Given the description of an element on the screen output the (x, y) to click on. 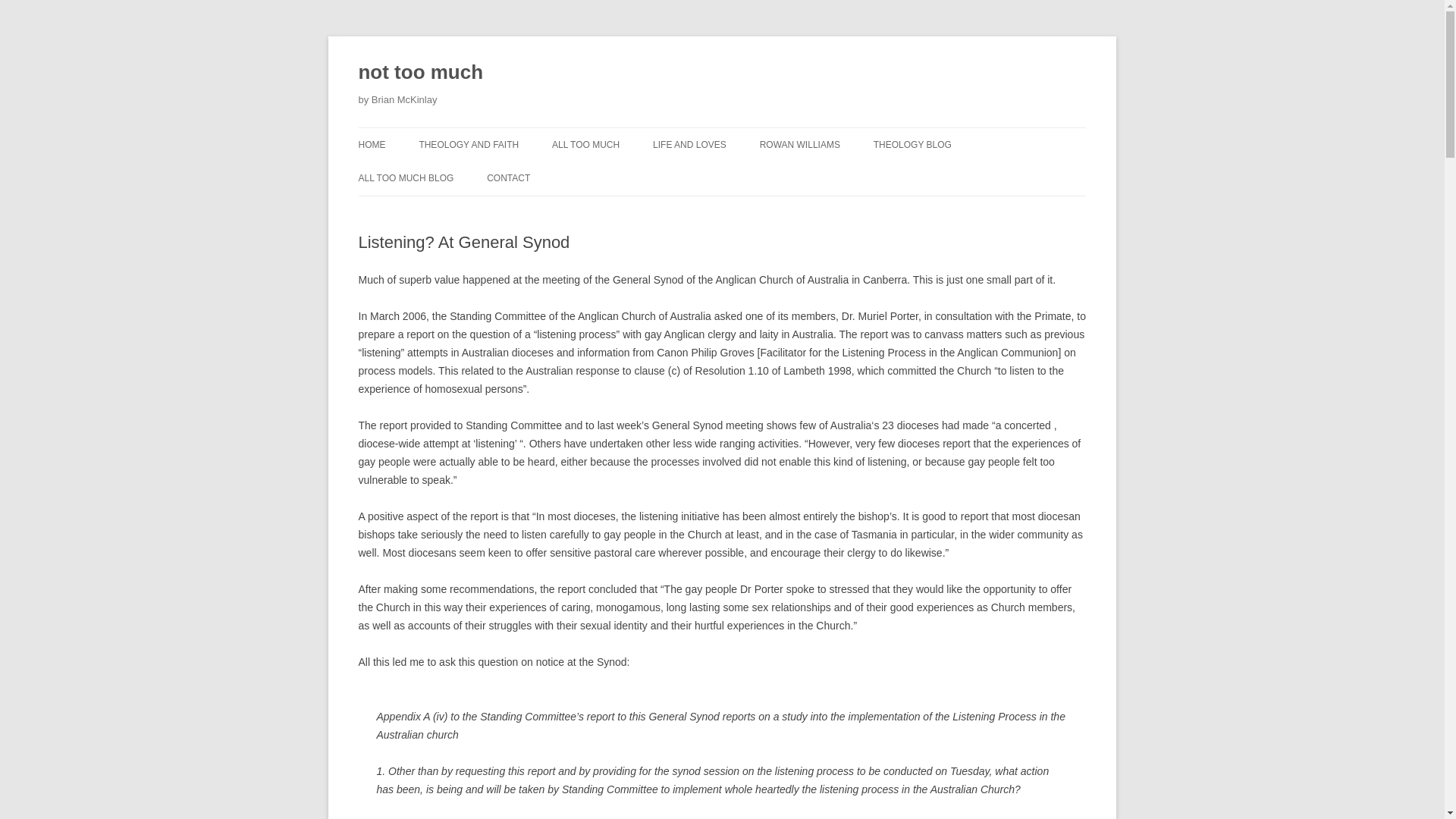
CONTACT (507, 177)
ALL TOO MUCH (585, 144)
ARTS (627, 176)
THEOLOGY AND FAITH (468, 144)
not too much (420, 72)
THEOLOGY BLOG (912, 144)
LIFE AND LOVES (689, 144)
ROWAN WILLIAMS (800, 144)
MY QUALIFICATIONS (494, 176)
ALL TOO MUCH BLOG (405, 177)
